Given the description of an element on the screen output the (x, y) to click on. 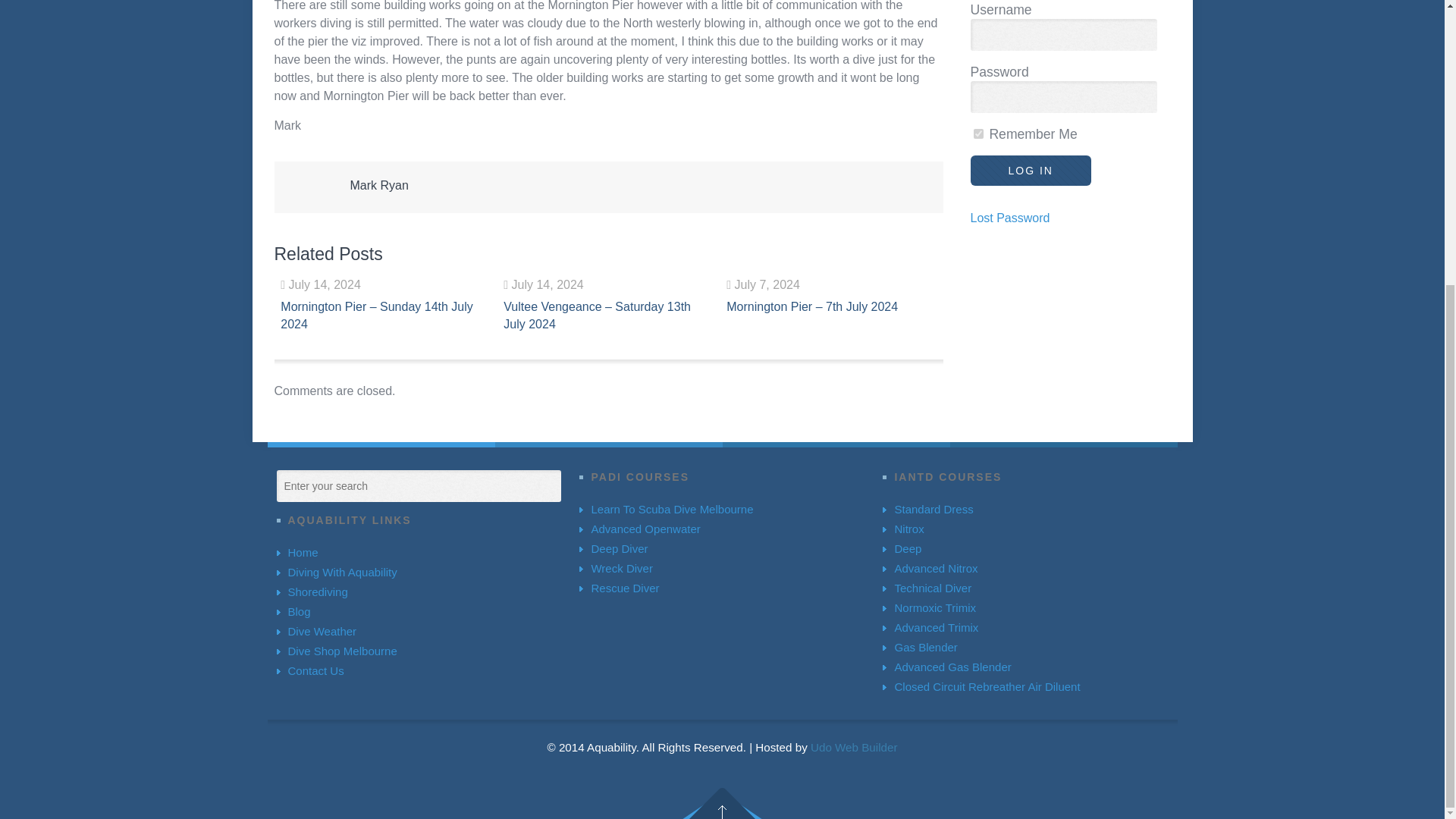
forever (979, 133)
Search (290, 483)
Log In (1030, 170)
